Given the description of an element on the screen output the (x, y) to click on. 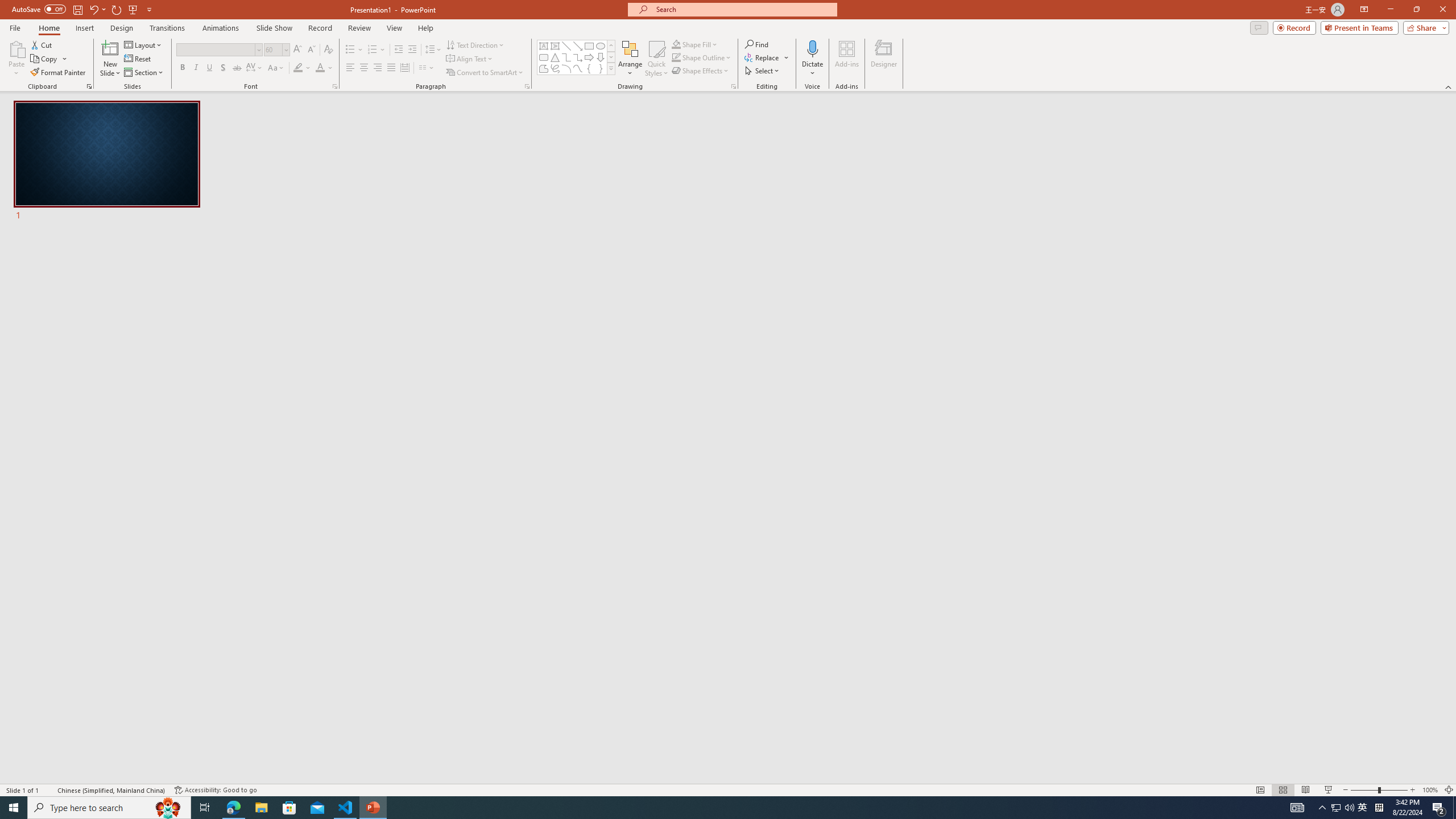
Zoom 100% (1430, 790)
